Given the description of an element on the screen output the (x, y) to click on. 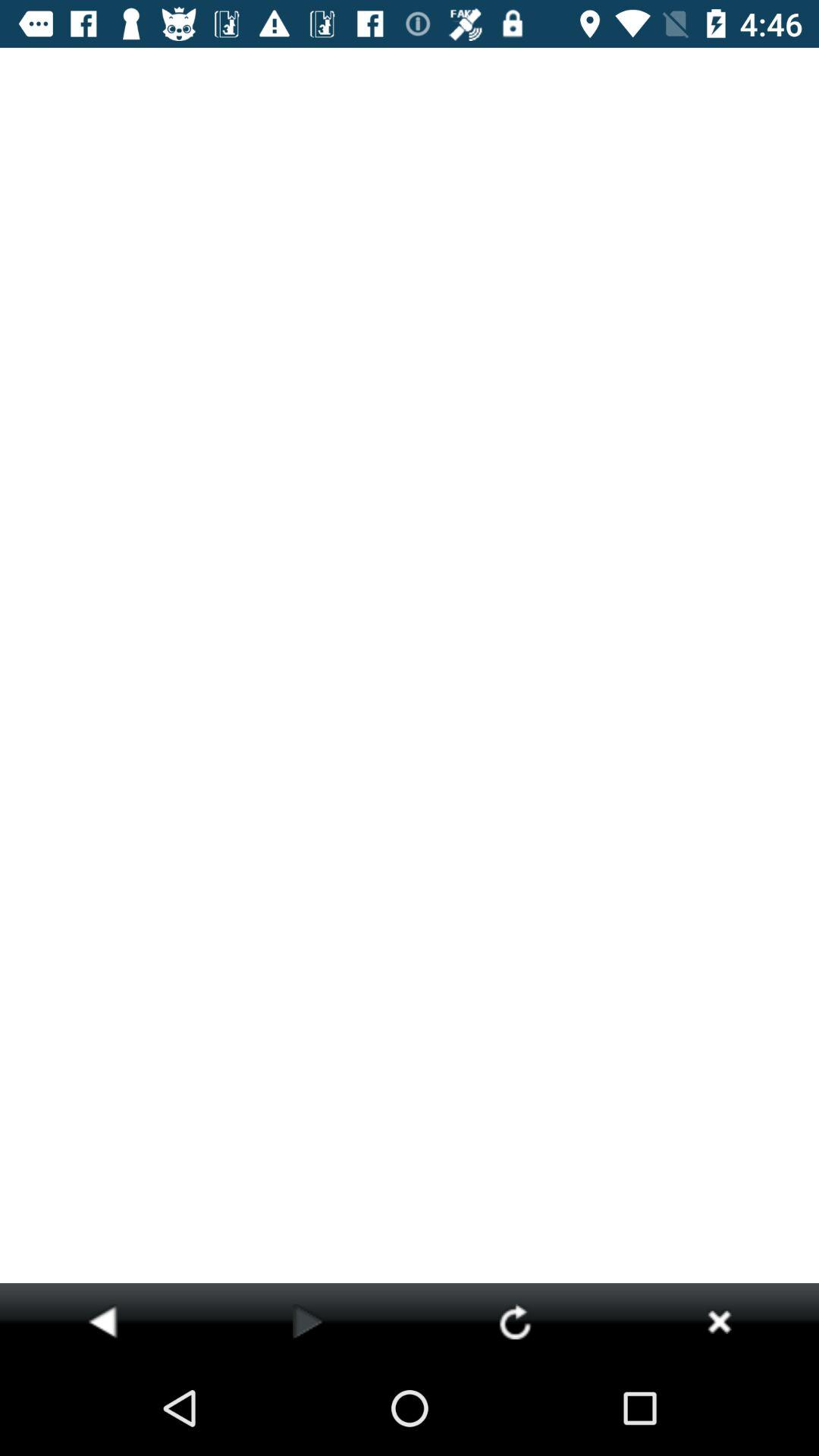
go back (102, 1321)
